Given the description of an element on the screen output the (x, y) to click on. 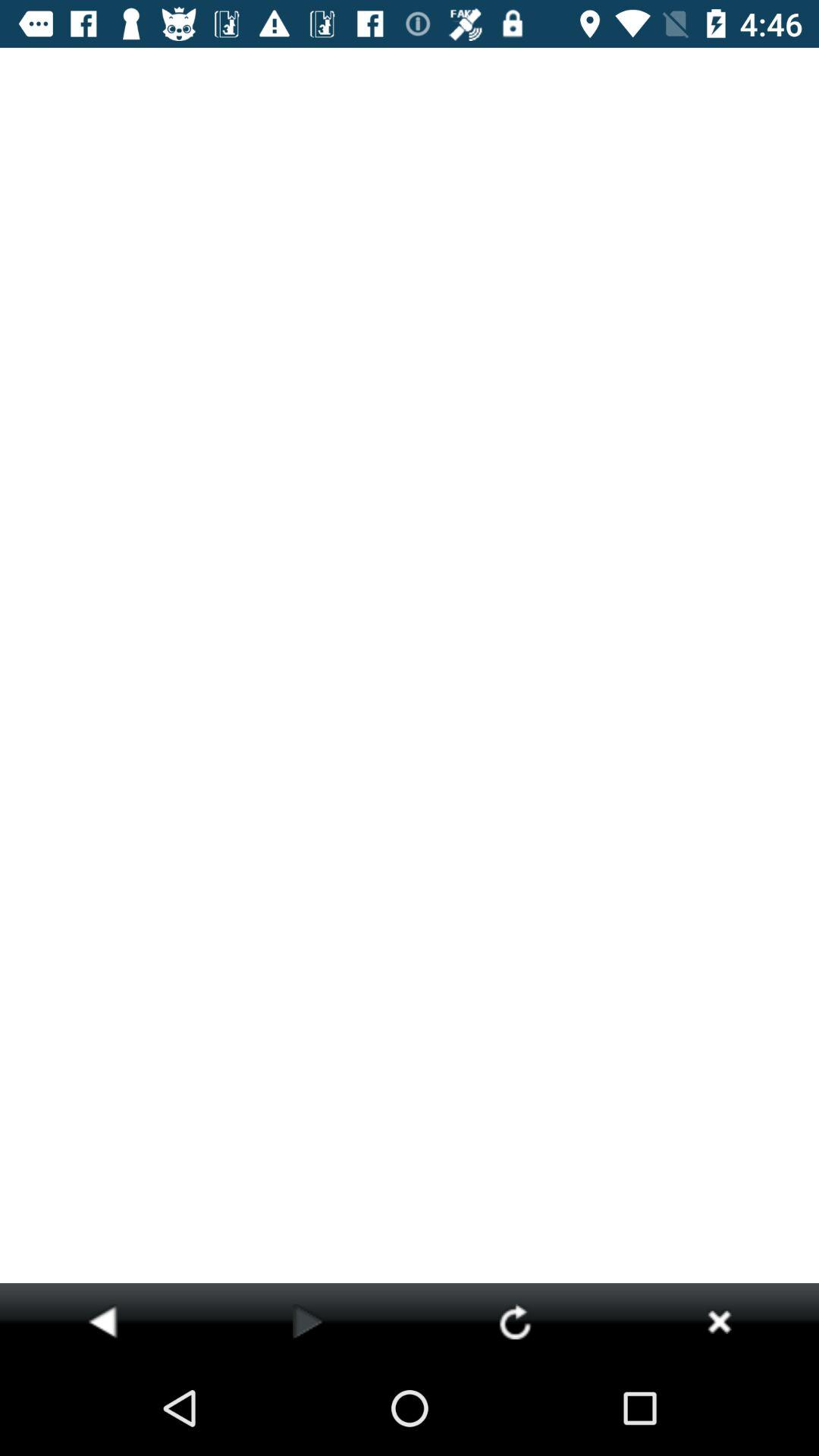
go back (102, 1321)
